Given the description of an element on the screen output the (x, y) to click on. 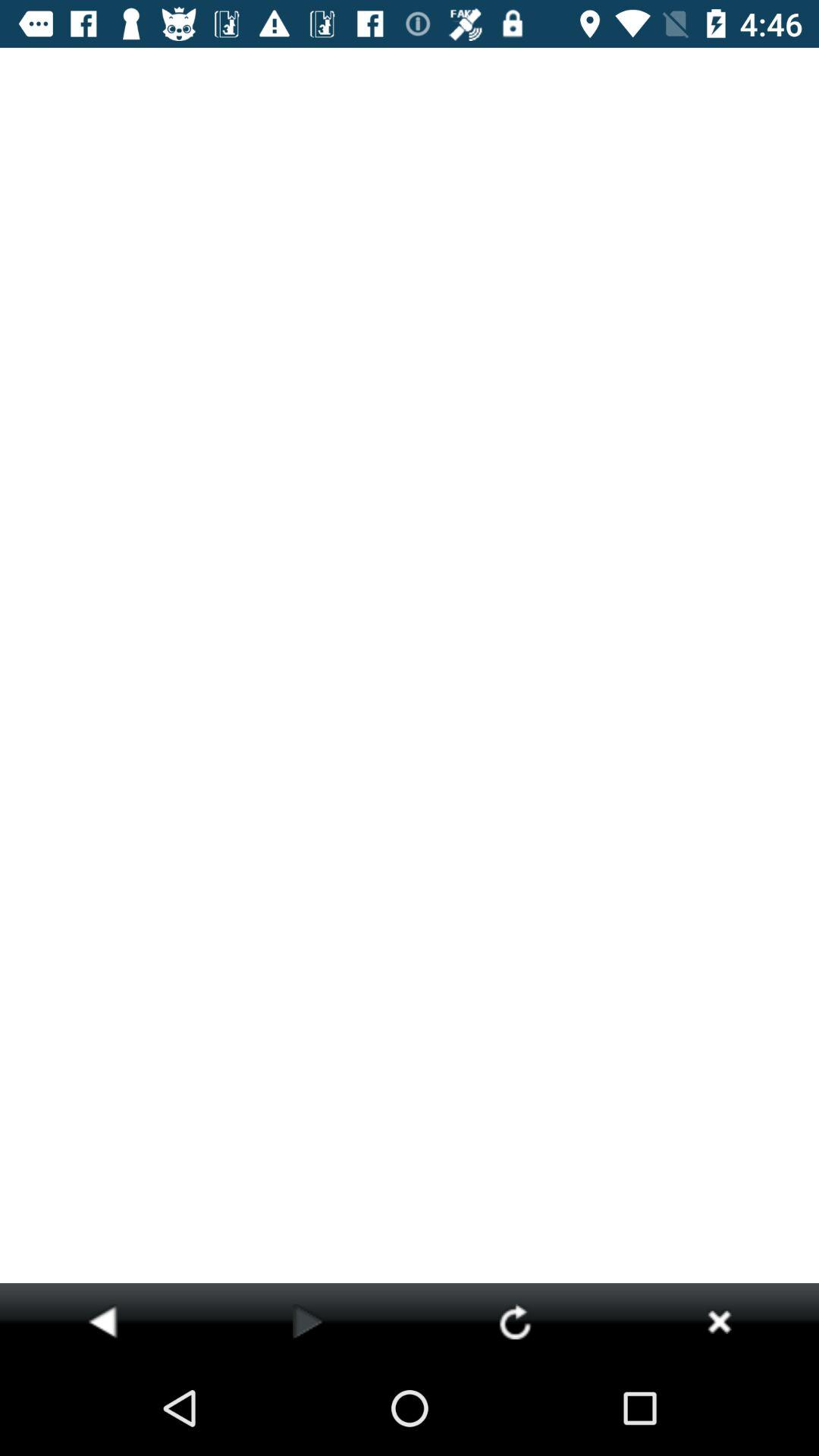
go back (102, 1321)
